Given the description of an element on the screen output the (x, y) to click on. 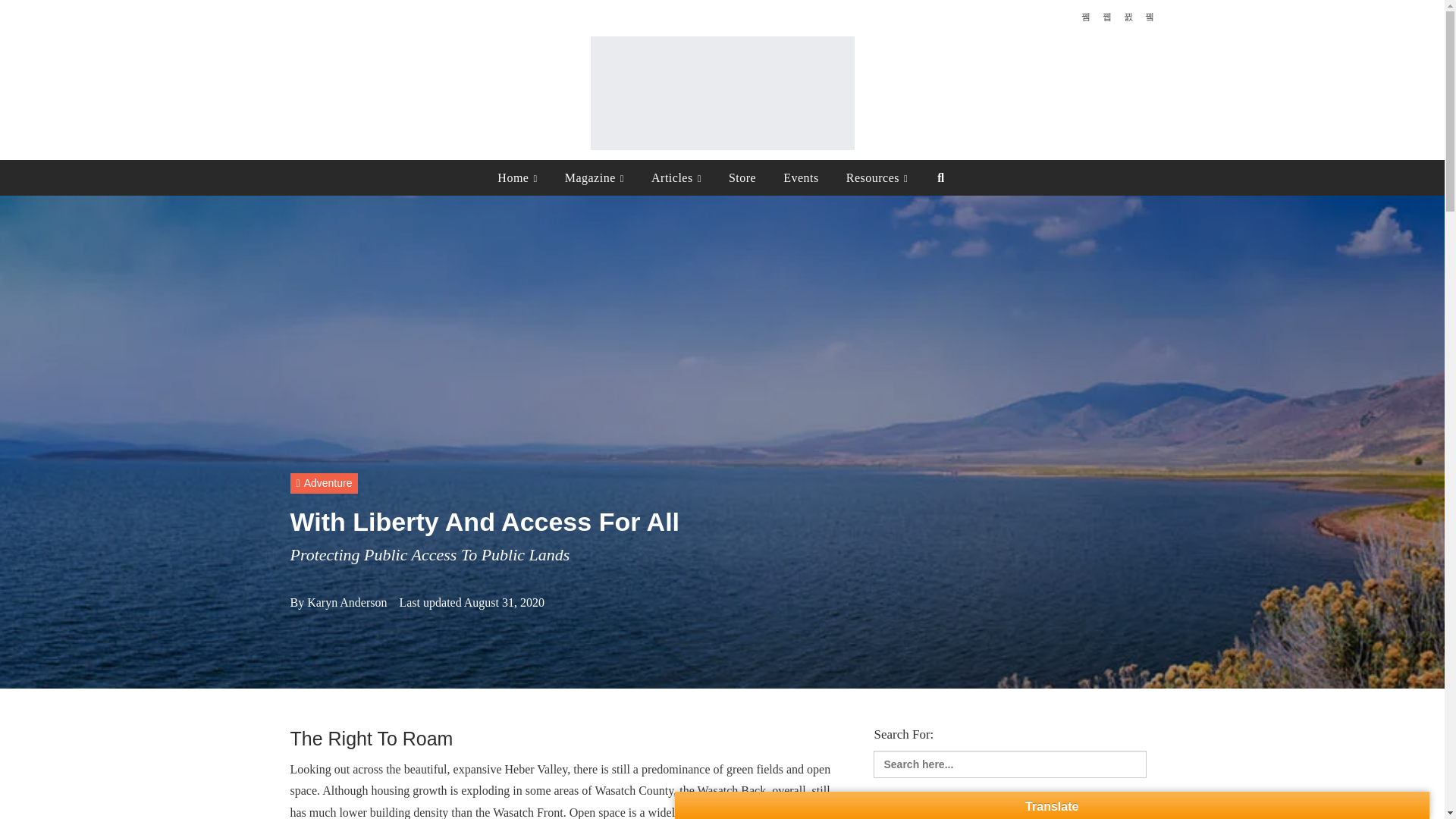
Resources (877, 177)
Articles (676, 177)
Home (516, 177)
Magazine (594, 177)
Events (801, 177)
Store (742, 177)
By Karyn Anderson (338, 602)
Adventure (323, 483)
